Given the description of an element on the screen output the (x, y) to click on. 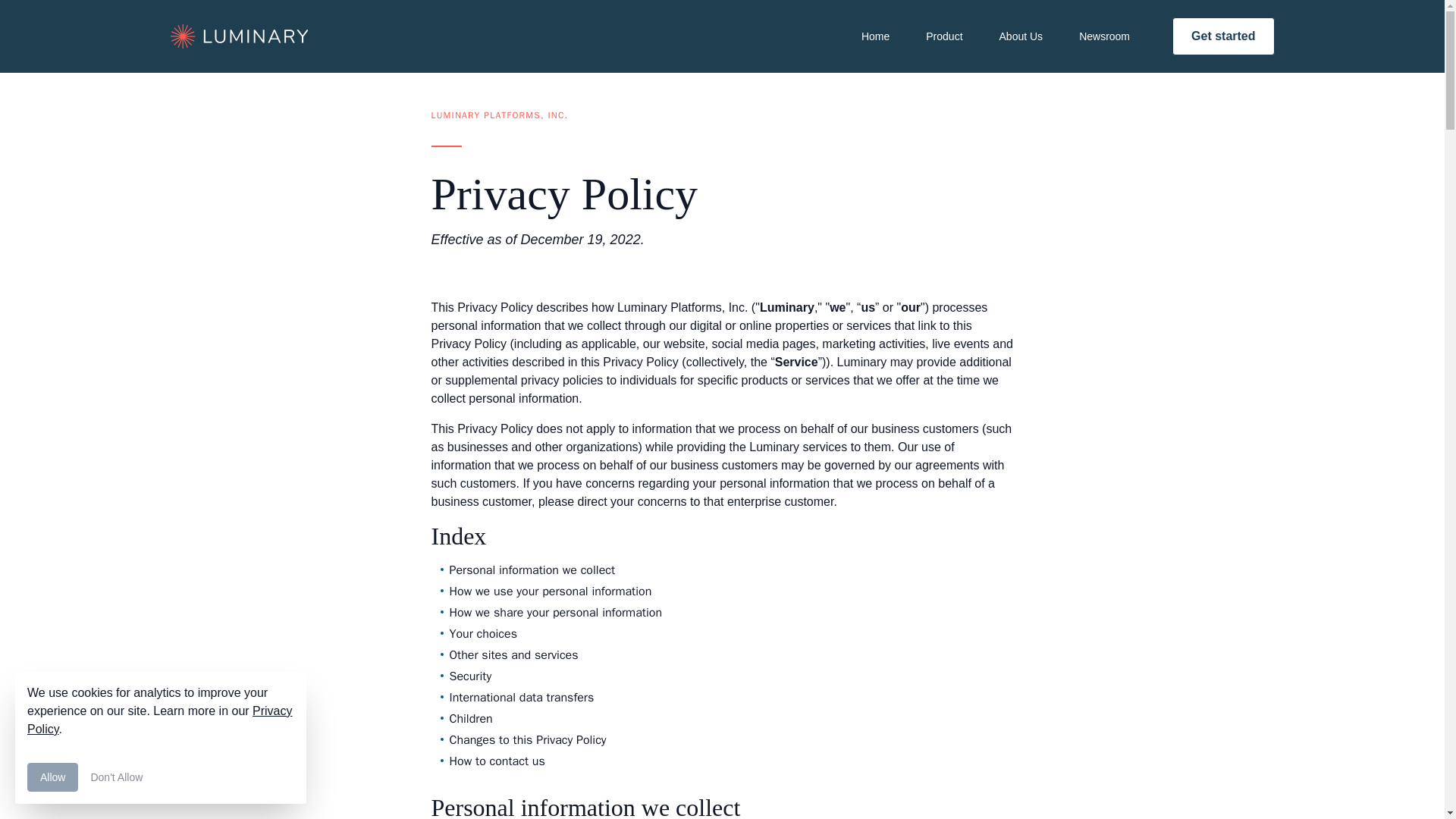
Home (875, 35)
Get started (1223, 36)
Newsroom (1104, 35)
Allow (52, 776)
Product (943, 35)
Don't Allow (116, 777)
Privacy Policy (159, 719)
About Us (1021, 35)
